Given the description of an element on the screen output the (x, y) to click on. 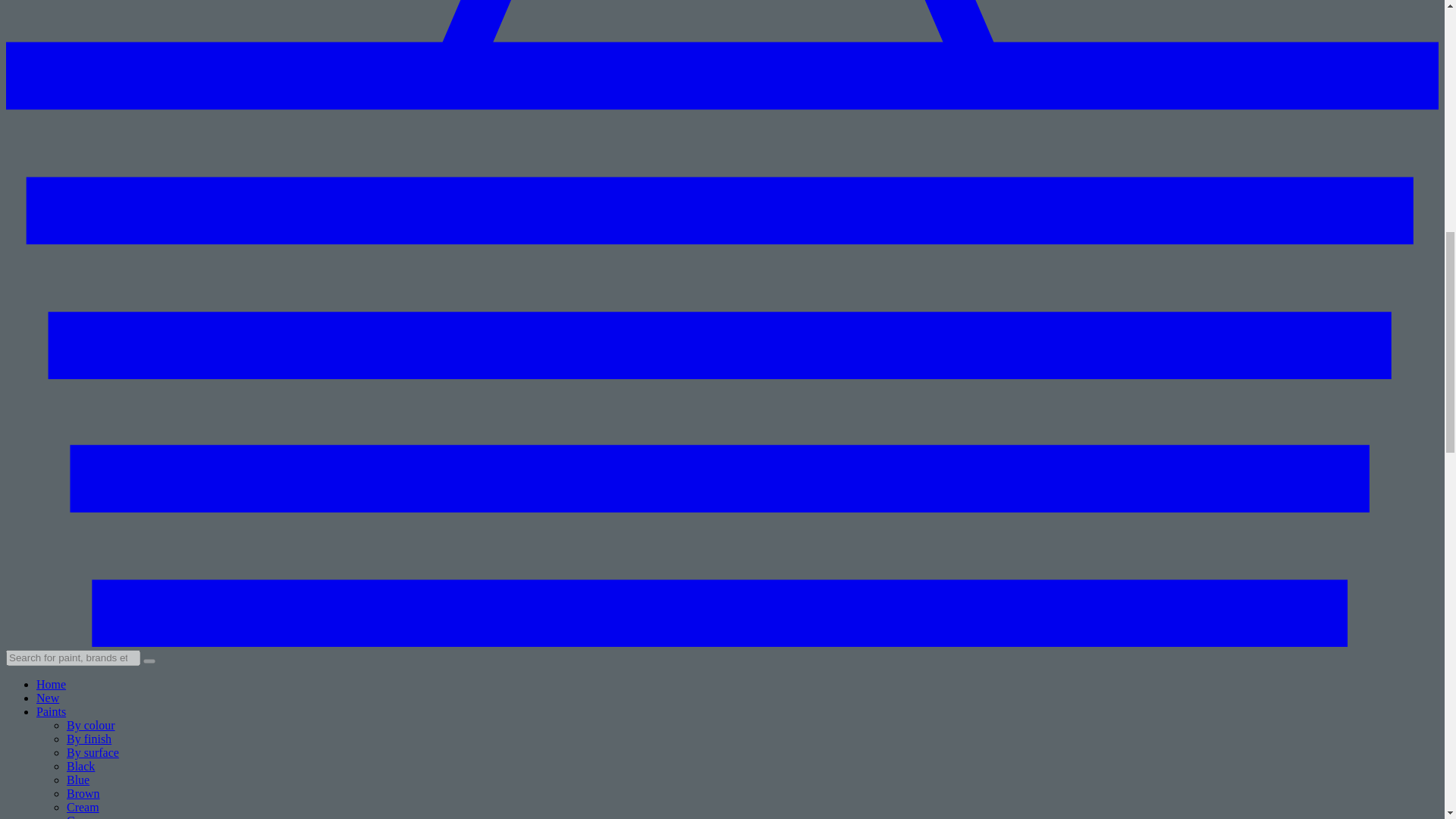
By colour (90, 725)
Home (50, 684)
Black (80, 766)
By finish (89, 738)
New (47, 697)
By surface (92, 752)
Green (81, 816)
Paints (50, 711)
Blue (77, 779)
Brown (83, 793)
Cream (82, 807)
